Given the description of an element on the screen output the (x, y) to click on. 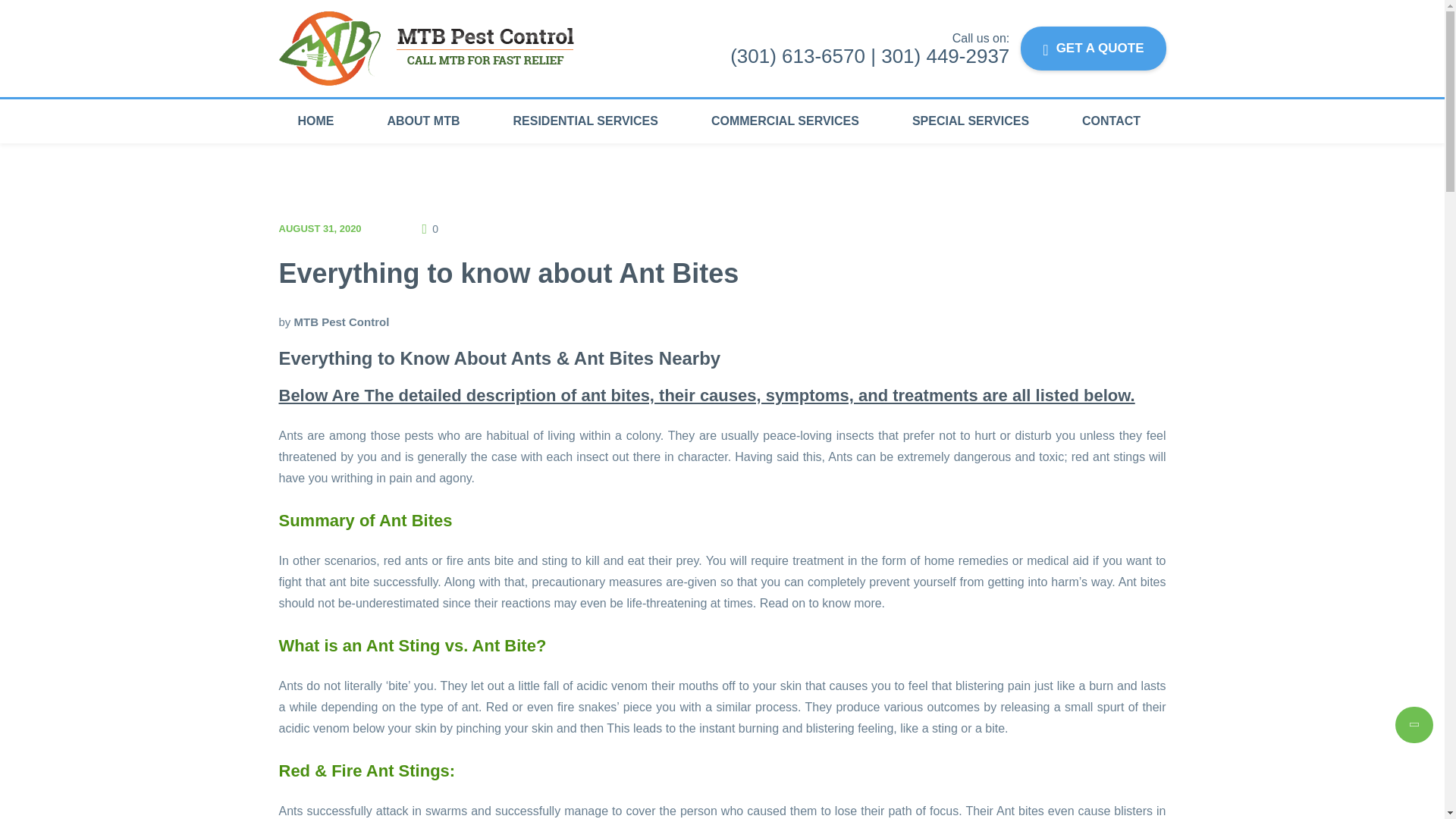
RESIDENTIAL SERVICES (584, 121)
COMMERCIAL SERVICES (784, 121)
CONTACT (1111, 121)
MTB Pest Control (342, 321)
GET A QUOTE (1093, 48)
AUGUST 31, 2020 (320, 228)
HOME (320, 121)
SPECIAL SERVICES (970, 121)
ABOUT MTB (423, 121)
